Given the description of an element on the screen output the (x, y) to click on. 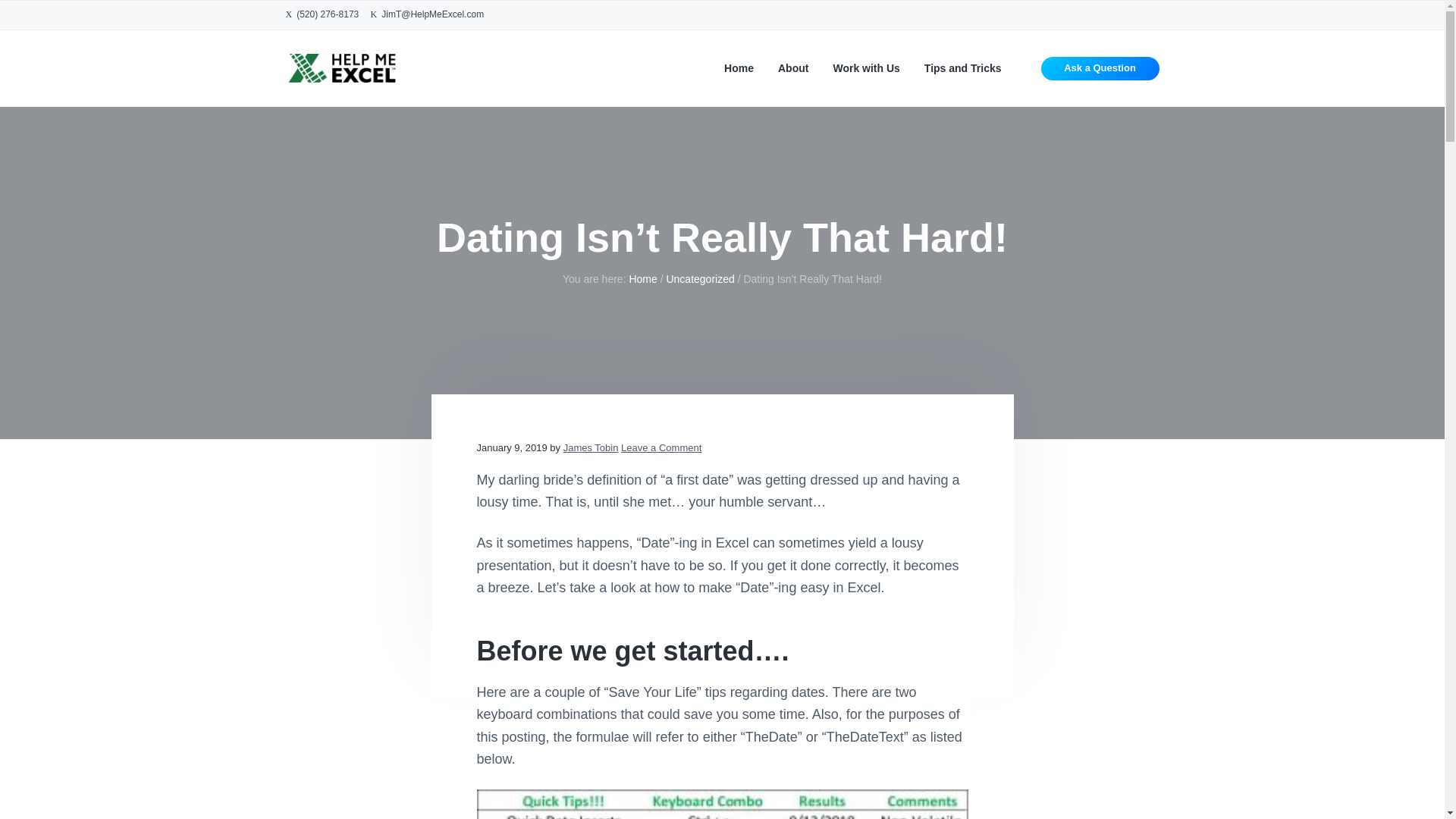
Home (738, 67)
Leave a Comment (661, 447)
Home (642, 278)
Uncategorized (699, 278)
Ask a Question (1099, 68)
Tips and Tricks (962, 67)
Work with Us (865, 67)
About (792, 67)
James Tobin (590, 447)
